Given the description of an element on the screen output the (x, y) to click on. 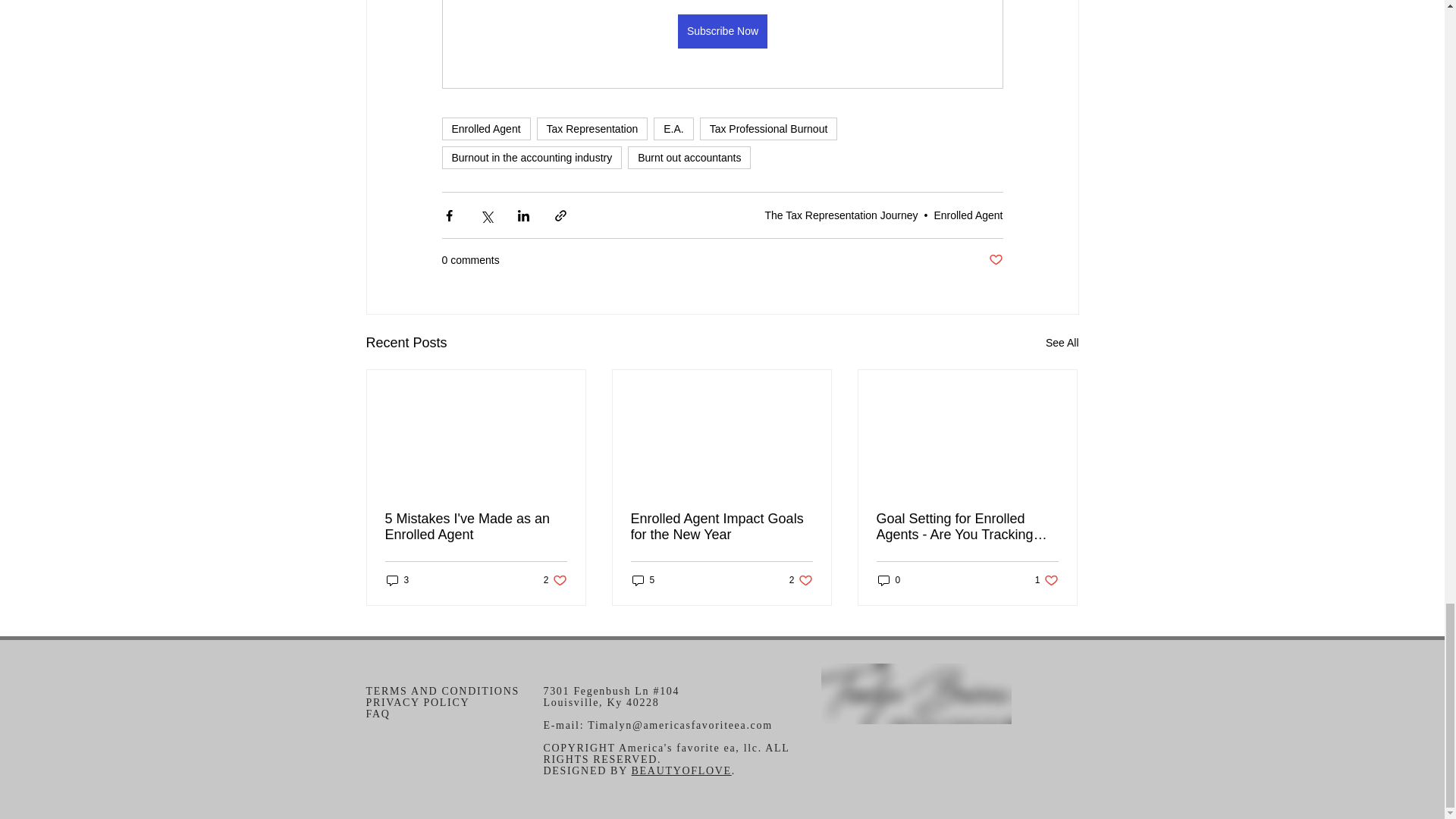
Tax Representation (592, 128)
Burnt out accountants (689, 157)
Enrolled Agent (485, 128)
E.A. (673, 128)
Tax Professional Burnout (769, 128)
Burnout in the accounting industry (531, 157)
The Tax Representation Journey (840, 215)
Subscribe Now (722, 31)
Post not marked as liked (995, 260)
Enrolled Agent (968, 215)
5 Mistakes I've Made as an Enrolled Agent (476, 526)
See All (1061, 342)
